Given the description of an element on the screen output the (x, y) to click on. 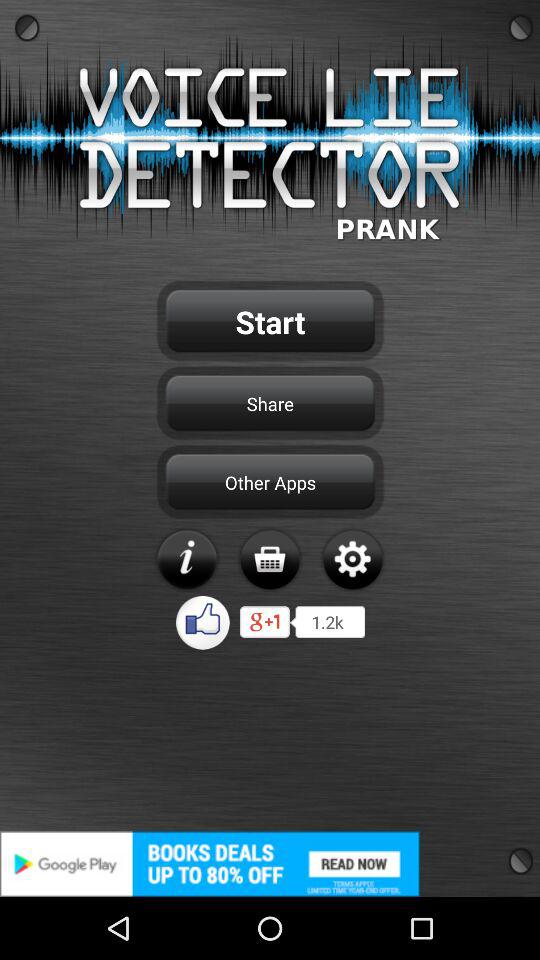
buy app (269, 559)
